Given the description of an element on the screen output the (x, y) to click on. 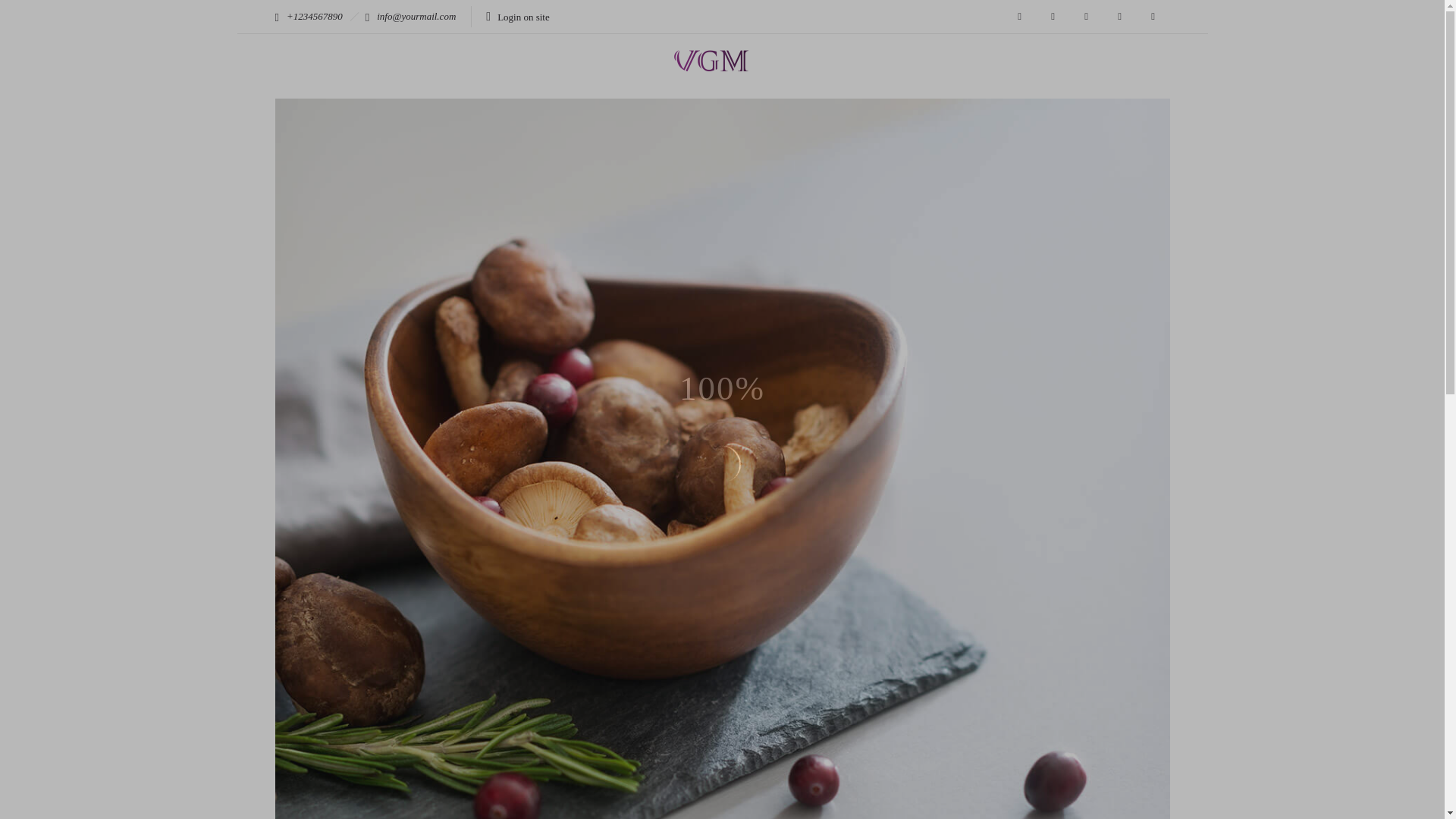
Evernote (1051, 16)
Dribbble (1019, 16)
Vimeo (1152, 16)
Instagram (1085, 16)
Last FM (1118, 16)
Login on site (517, 16)
